Given the description of an element on the screen output the (x, y) to click on. 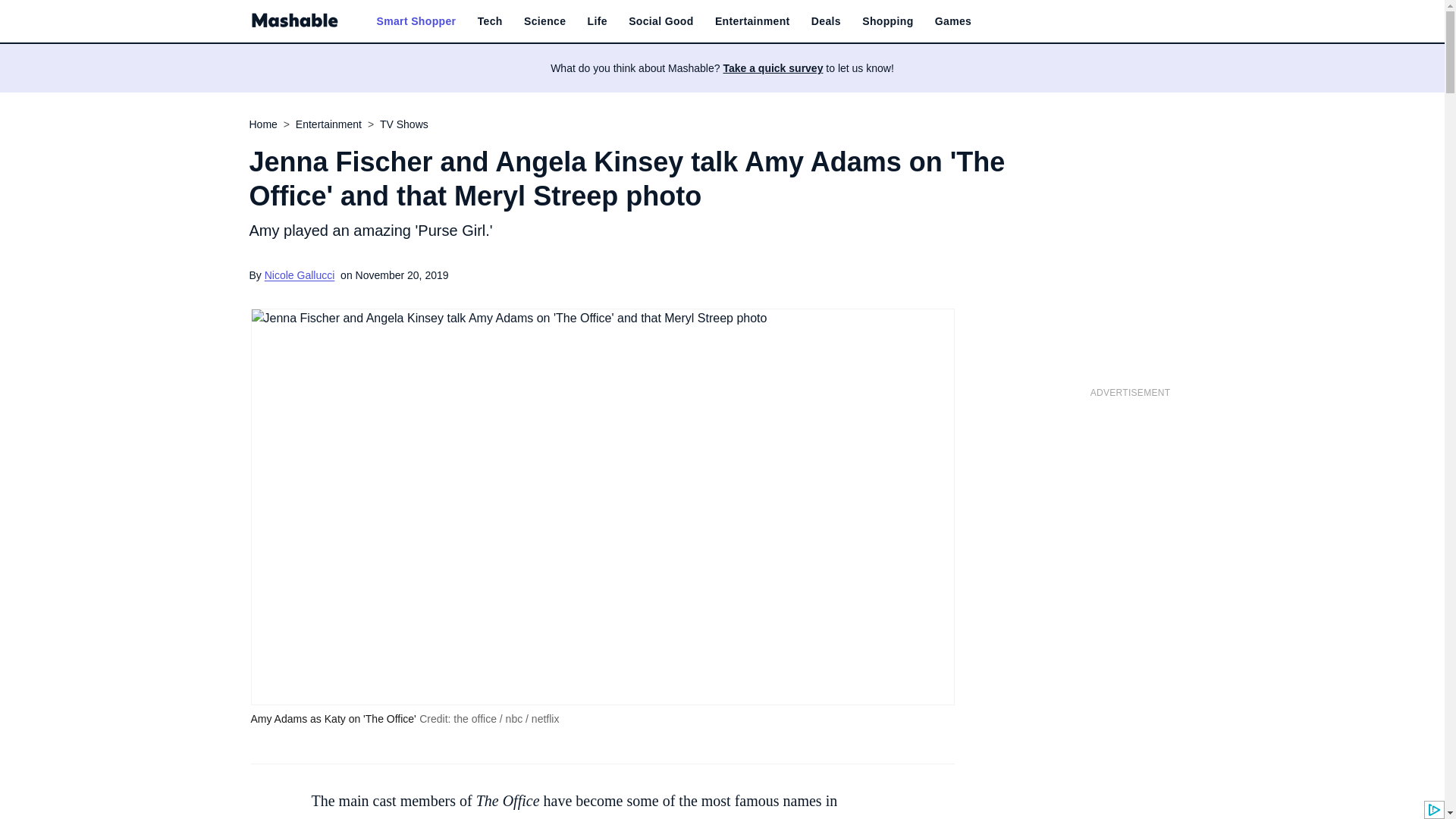
Deals (825, 21)
Life (597, 21)
Entertainment (752, 21)
Games (952, 21)
Smart Shopper (415, 21)
Shopping (886, 21)
Tech (489, 21)
Science (545, 21)
Social Good (661, 21)
